Given the description of an element on the screen output the (x, y) to click on. 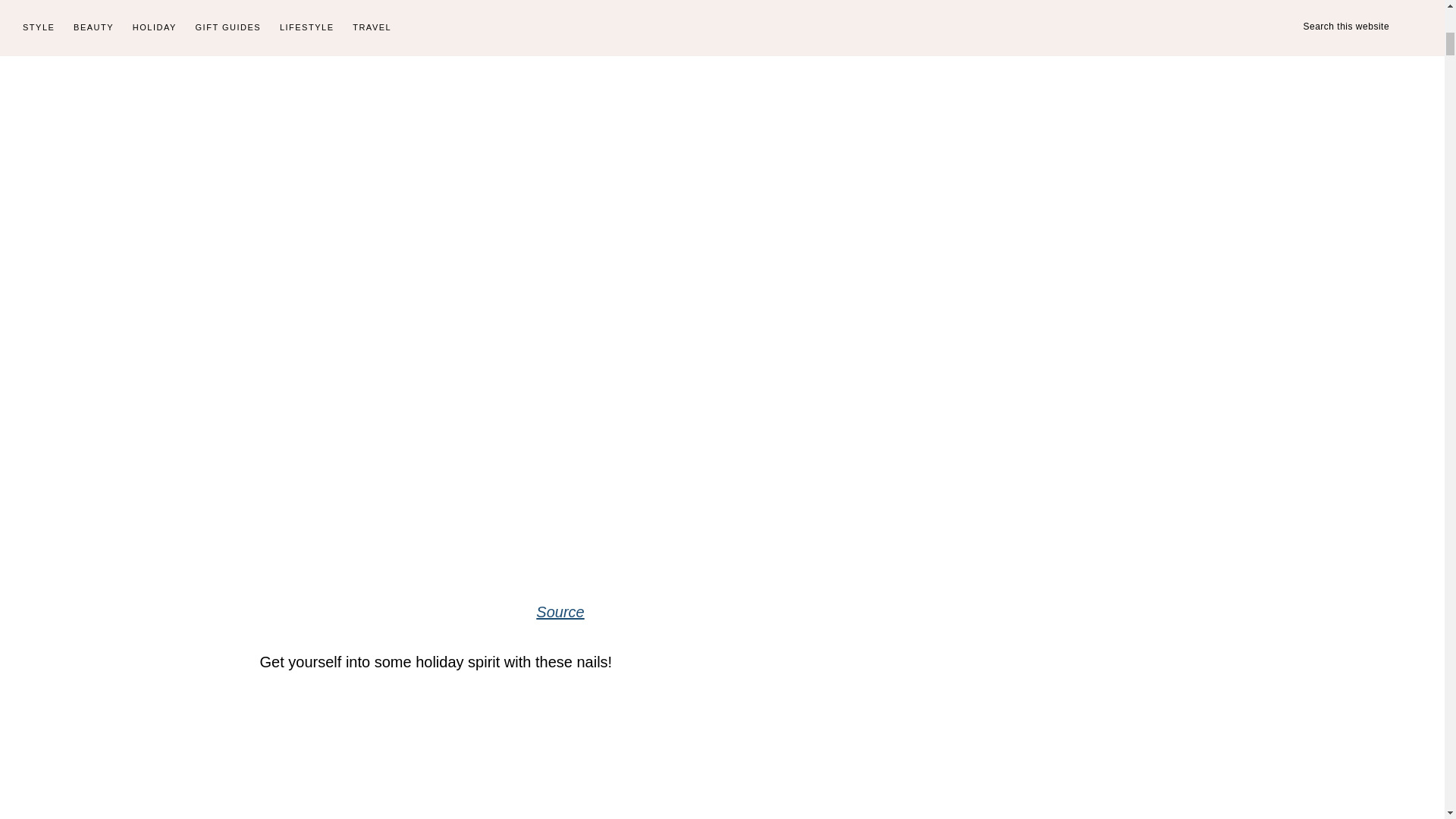
Source (559, 611)
